Given the description of an element on the screen output the (x, y) to click on. 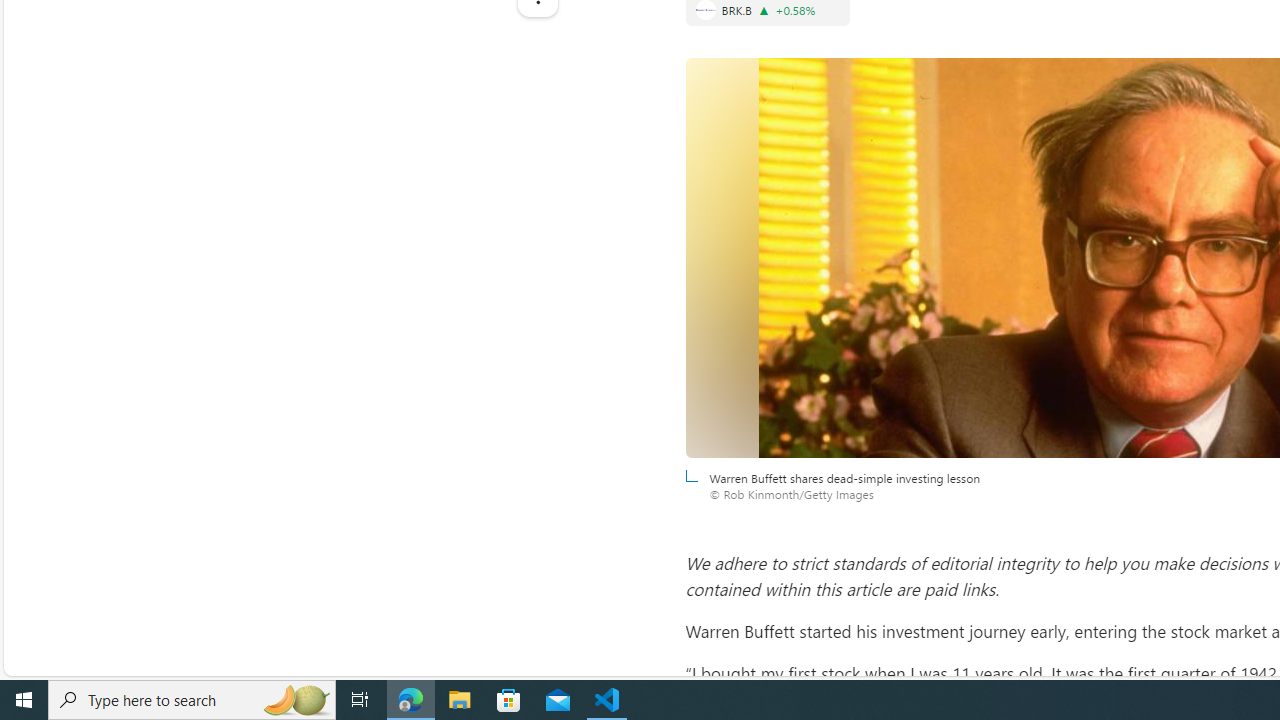
Price increase (763, 10)
BERKSHIRE HATHAWAY INC. (705, 10)
